Given the description of an element on the screen output the (x, y) to click on. 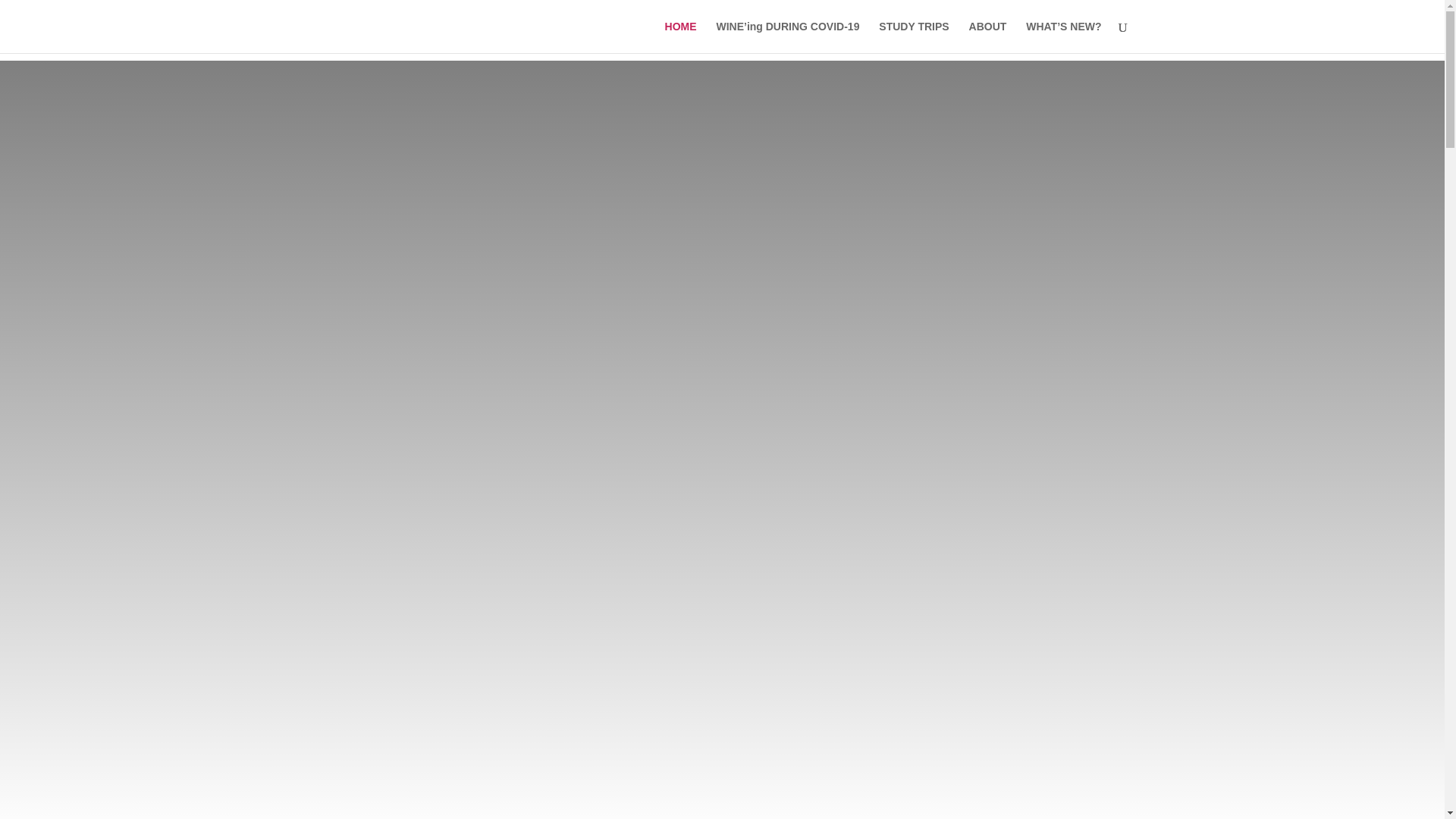
STUDY TRIPS (914, 37)
HOME (681, 37)
ABOUT (988, 37)
